Given the description of an element on the screen output the (x, y) to click on. 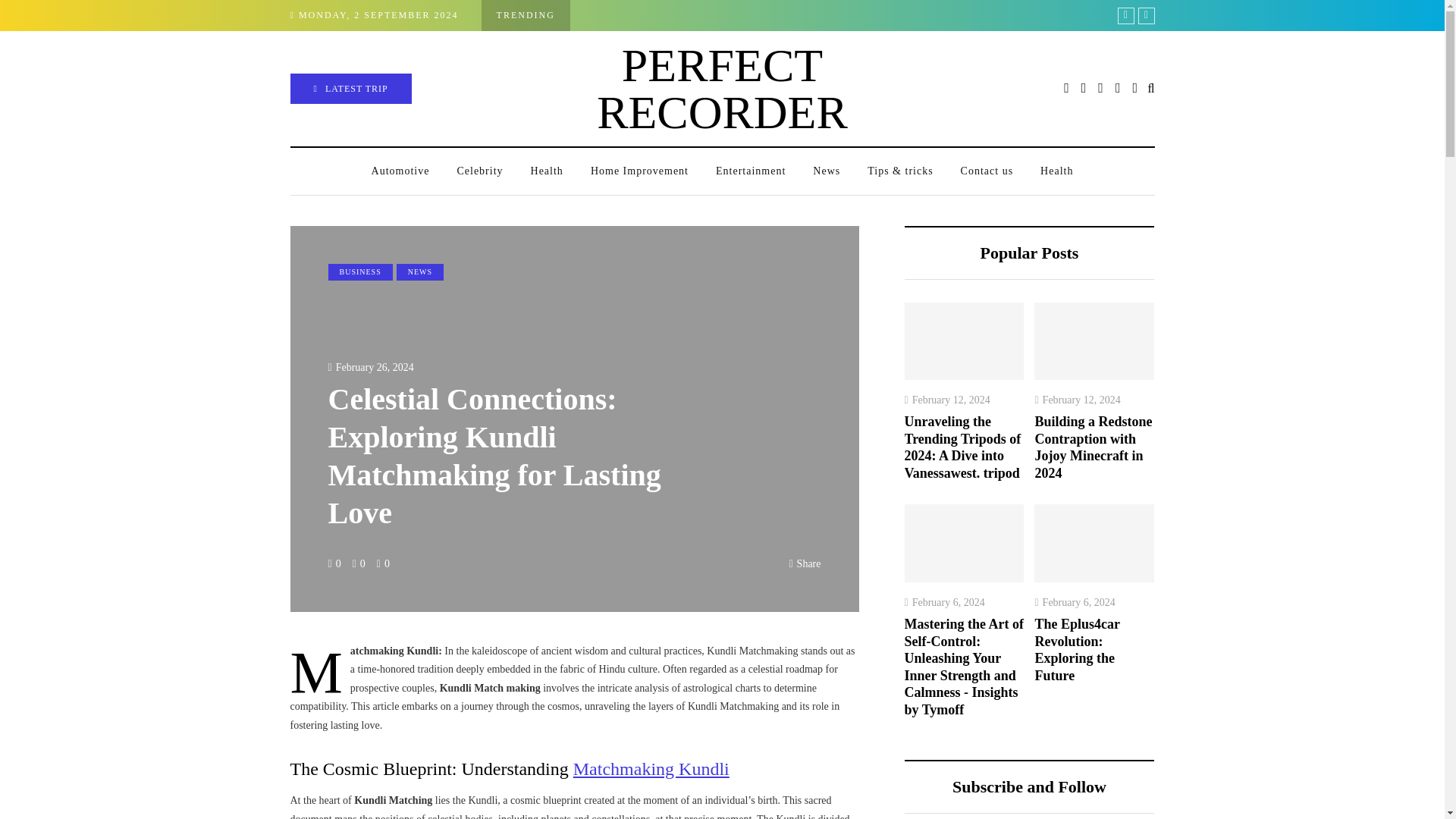
Health (1056, 170)
Home Improvement (638, 170)
Celebrity (479, 170)
Automotive (401, 170)
LATEST TRIP (349, 88)
Entertainment (750, 170)
Health (546, 170)
NEWS (420, 271)
PERFECT RECORDER (721, 88)
Matchmaking Kundli (651, 768)
